Given the description of an element on the screen output the (x, y) to click on. 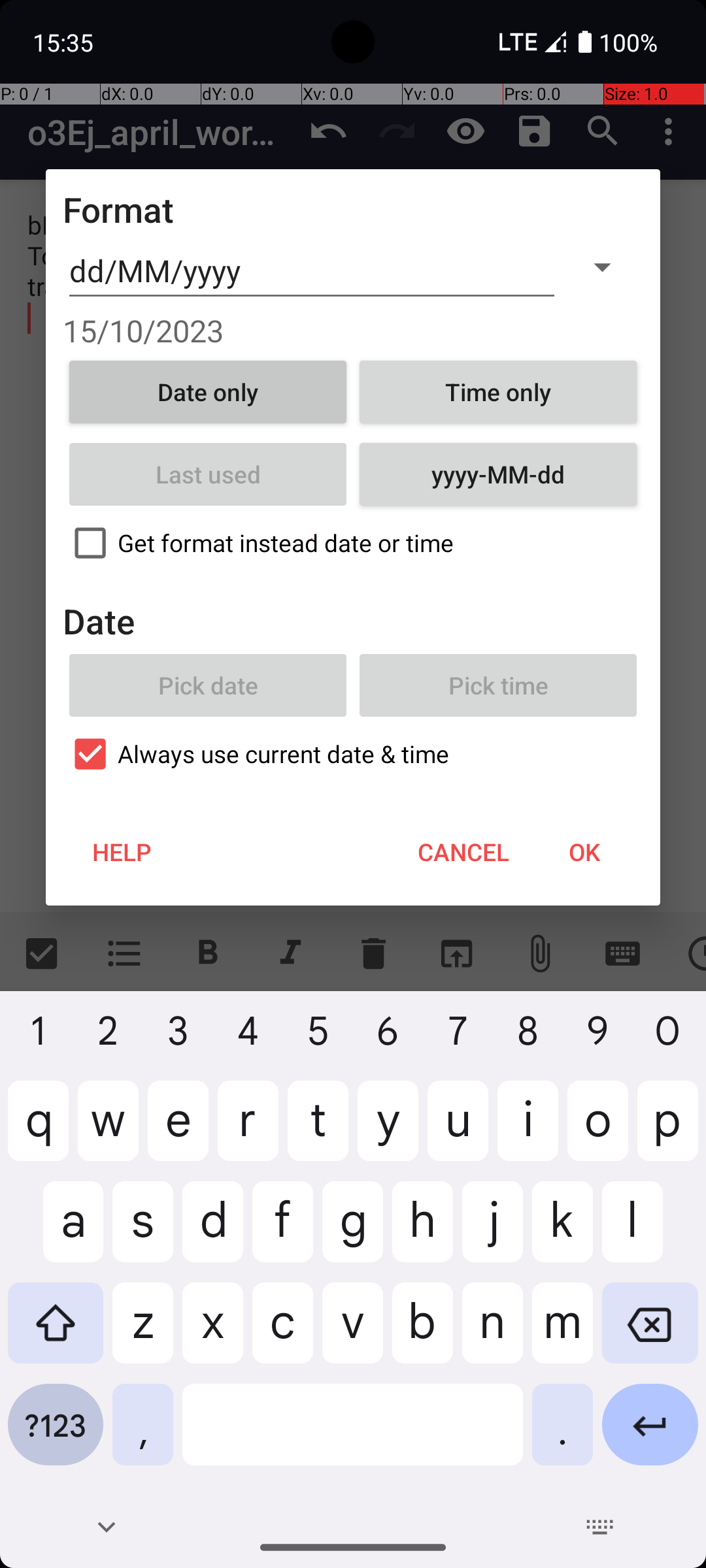
dd/MM/yyyy Element type: android.widget.EditText (311, 270)
15/10/2023 Element type: android.widget.TextView (352, 329)
